Given the description of an element on the screen output the (x, y) to click on. 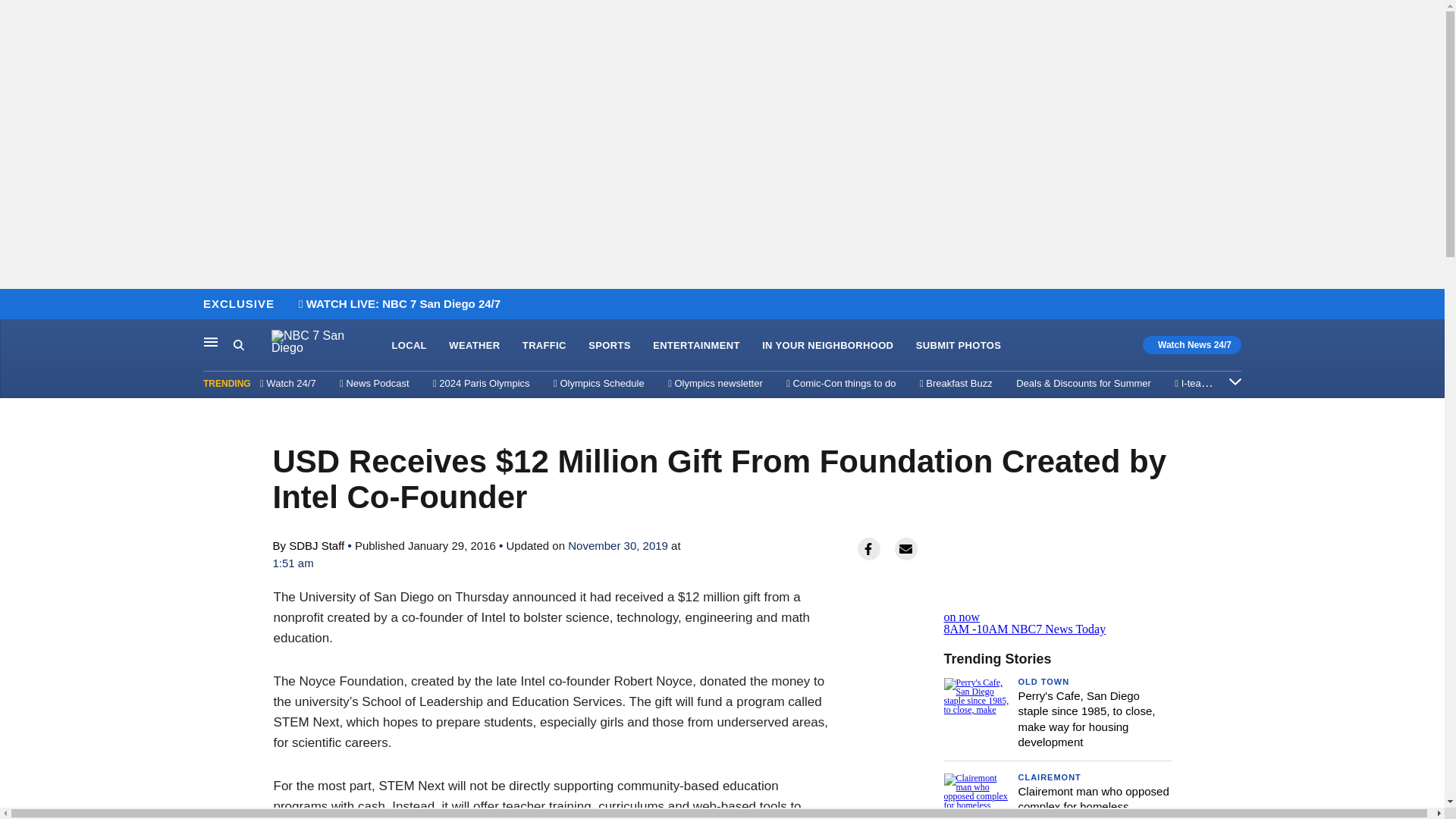
Main Navigation (210, 341)
TRAFFIC (544, 345)
CLAIREMONT (1048, 777)
LOCAL (408, 345)
OLD TOWN (1042, 681)
Skip to content (16, 304)
Search (238, 344)
ENTERTAINMENT (1056, 611)
SPORTS (695, 345)
IN YOUR NEIGHBORHOOD (609, 345)
SUBMIT PHOTOS (827, 345)
Search (958, 345)
Expand (252, 345)
